Given the description of an element on the screen output the (x, y) to click on. 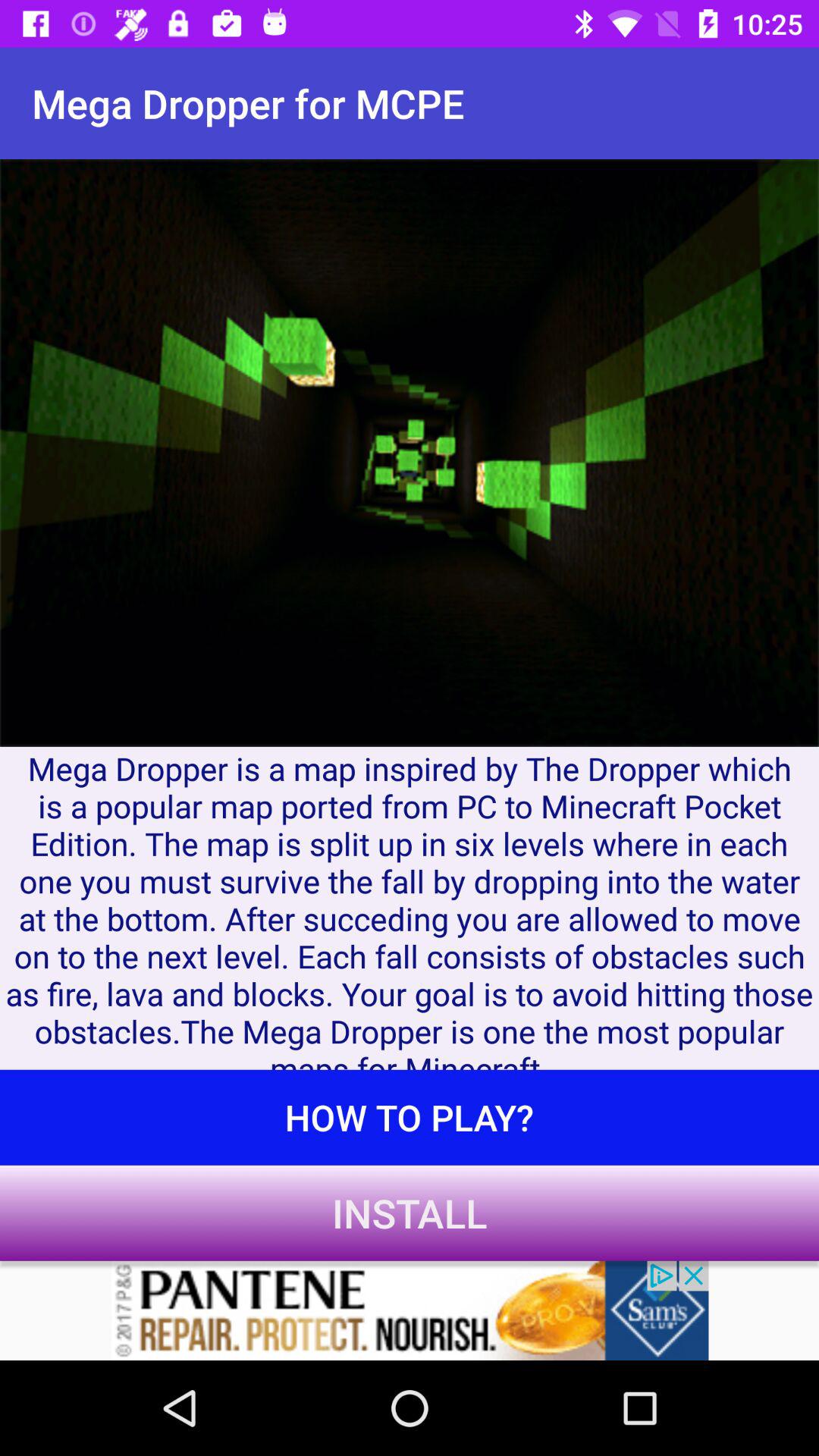
go to pantene website (409, 1310)
